Given the description of an element on the screen output the (x, y) to click on. 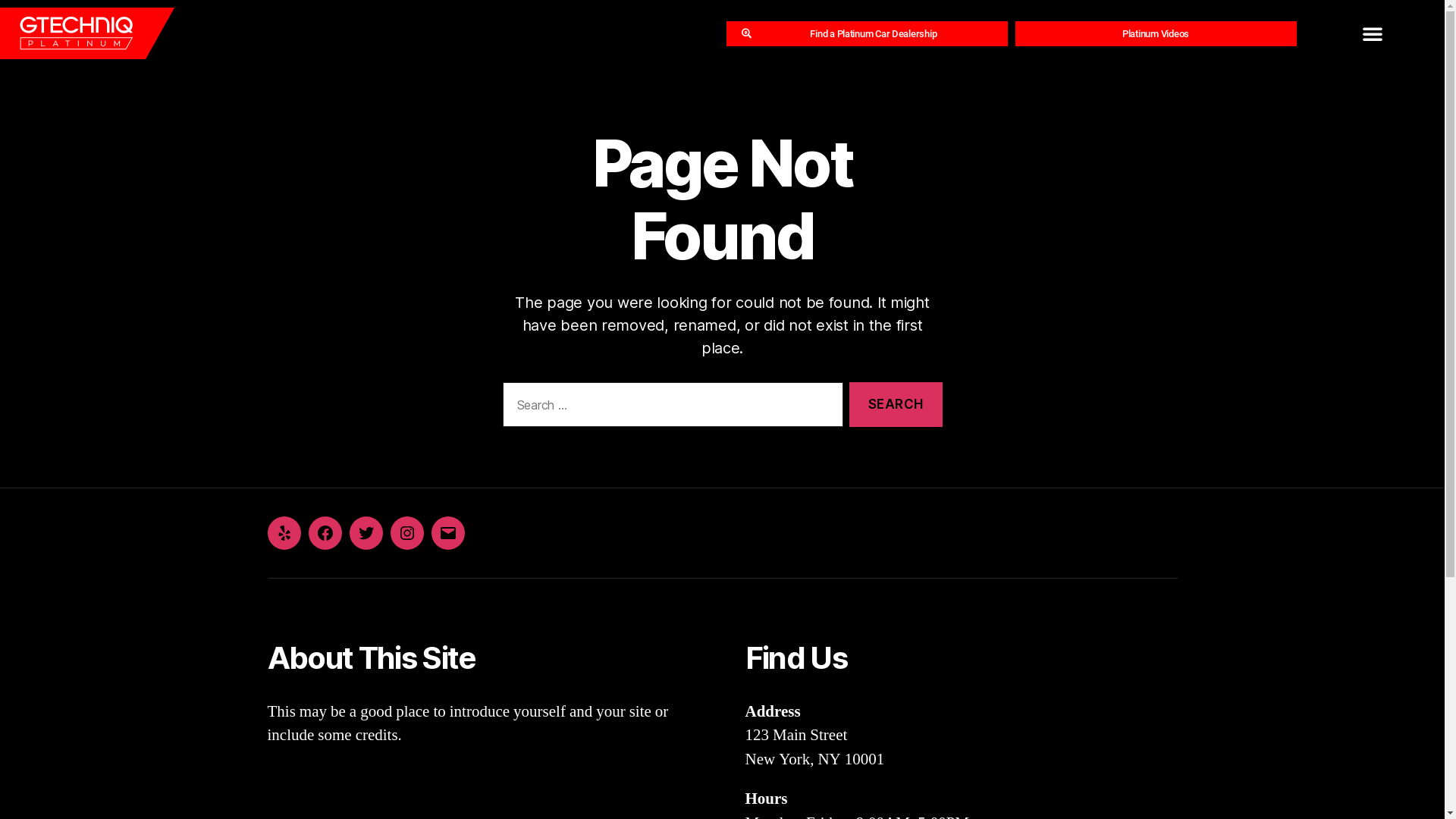
Platinum Videos Element type: text (1154, 33)
Search Element type: text (895, 404)
Find a Platinum Car Dealership Element type: text (866, 33)
